Given the description of an element on the screen output the (x, y) to click on. 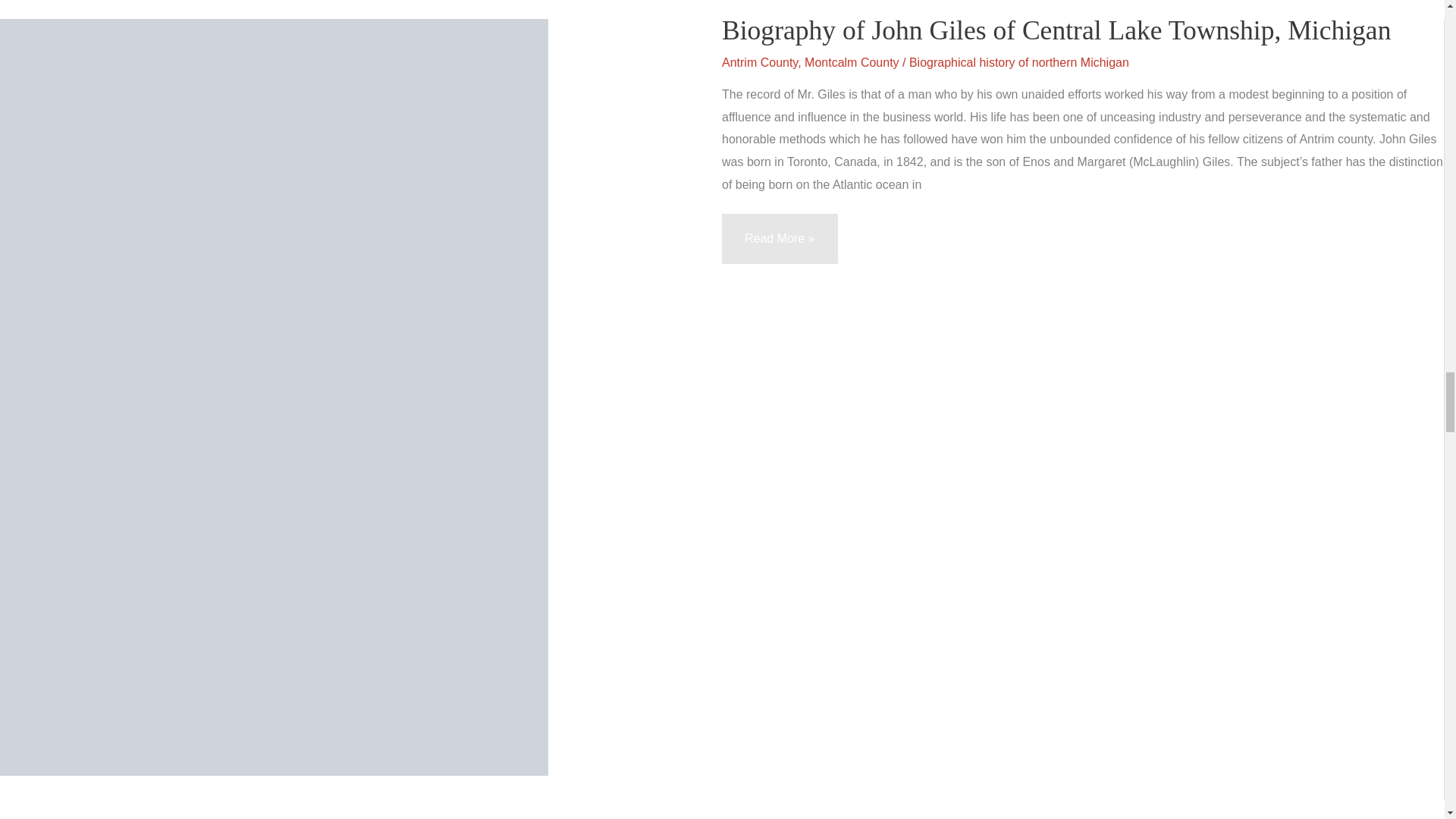
Antrim County (759, 62)
Biography of John Giles of Central Lake Township, Michigan (1056, 30)
